Given the description of an element on the screen output the (x, y) to click on. 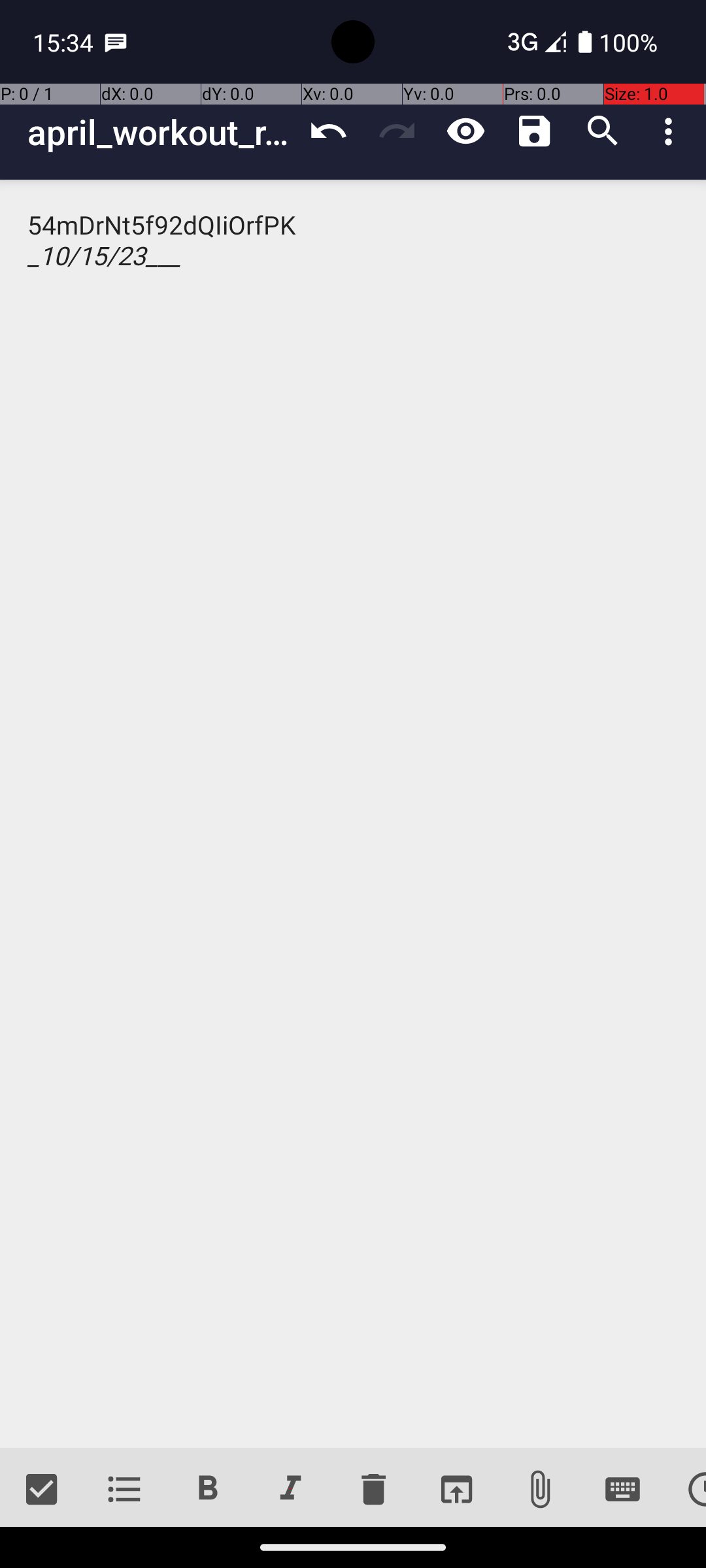
april_workout_routine_2023_02_19 Element type: android.widget.TextView (160, 131)
54mDrNt5f92dQIiOrfPK
_10/15/23___ Element type: android.widget.EditText (353, 813)
